Given the description of an element on the screen output the (x, y) to click on. 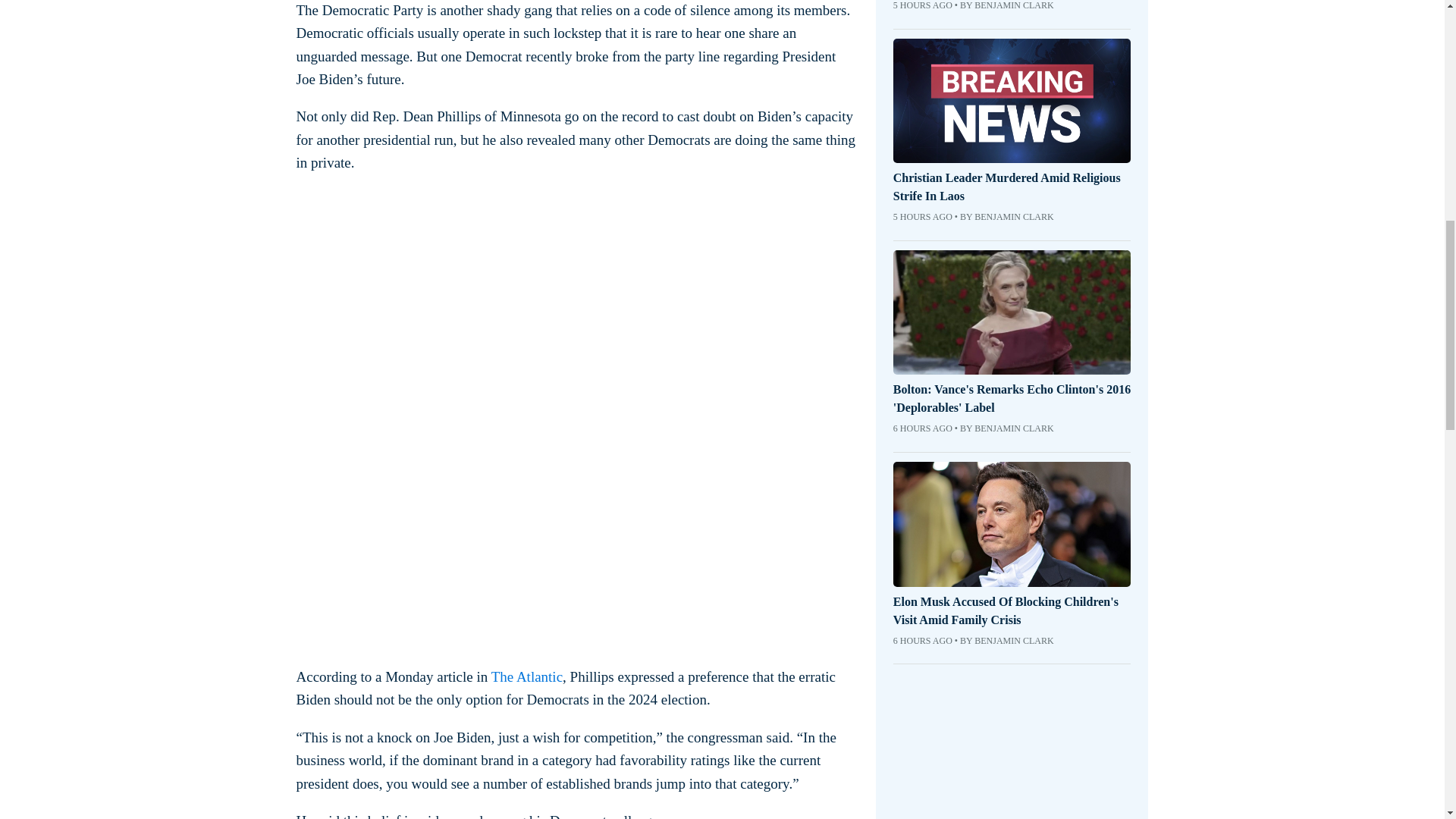
The Atlantic (527, 676)
Christian Leader Murdered Amid Religious Strife In Laos (1012, 186)
